Given the description of an element on the screen output the (x, y) to click on. 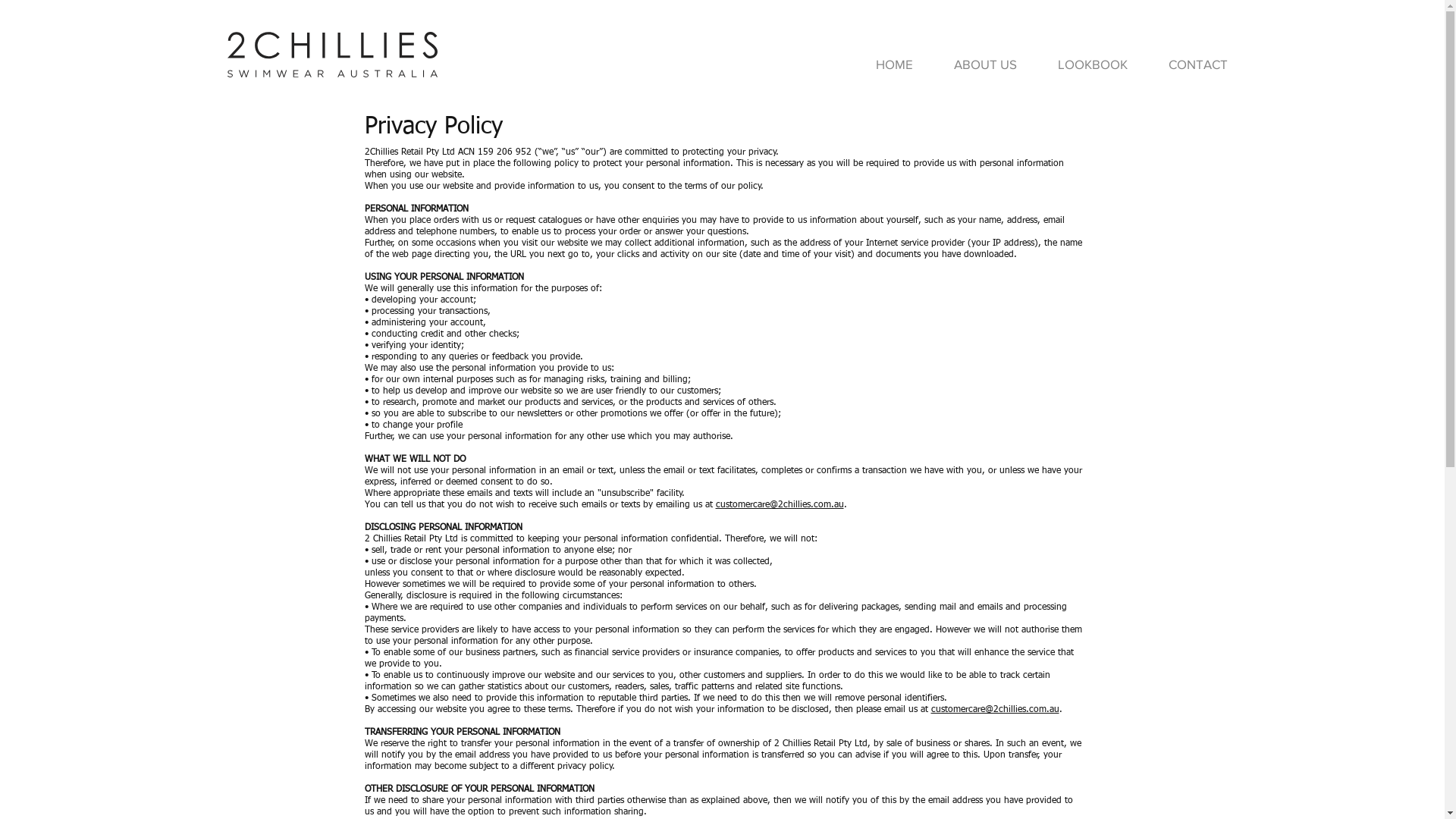
ABOUT US Element type: text (985, 63)
customercare@2chillies.com.au Element type: text (779, 504)
HOME Element type: text (894, 63)
LOOKBOOK Element type: text (1092, 63)
CONTACT Element type: text (1197, 63)
customercare@2chillies.com.au Element type: text (995, 709)
